Given the description of an element on the screen output the (x, y) to click on. 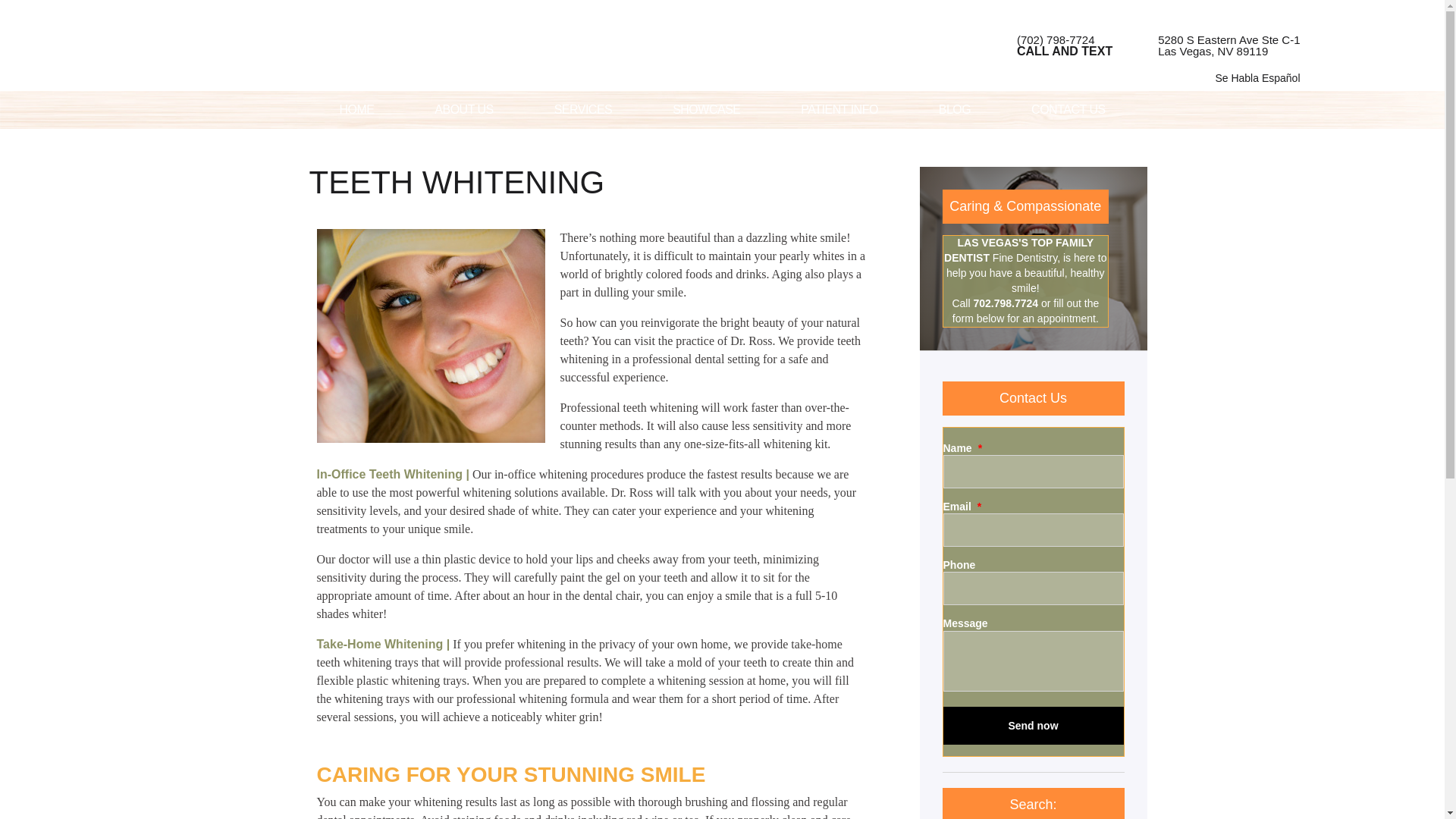
CONTACT US (1068, 109)
David Ross (1217, 45)
Send now (389, 45)
SHOWCASE (1033, 725)
Send now (706, 109)
PATIENT INFO (1033, 725)
BLOG (838, 109)
ABOUT US (954, 109)
SERVICES (463, 109)
